Given the description of an element on the screen output the (x, y) to click on. 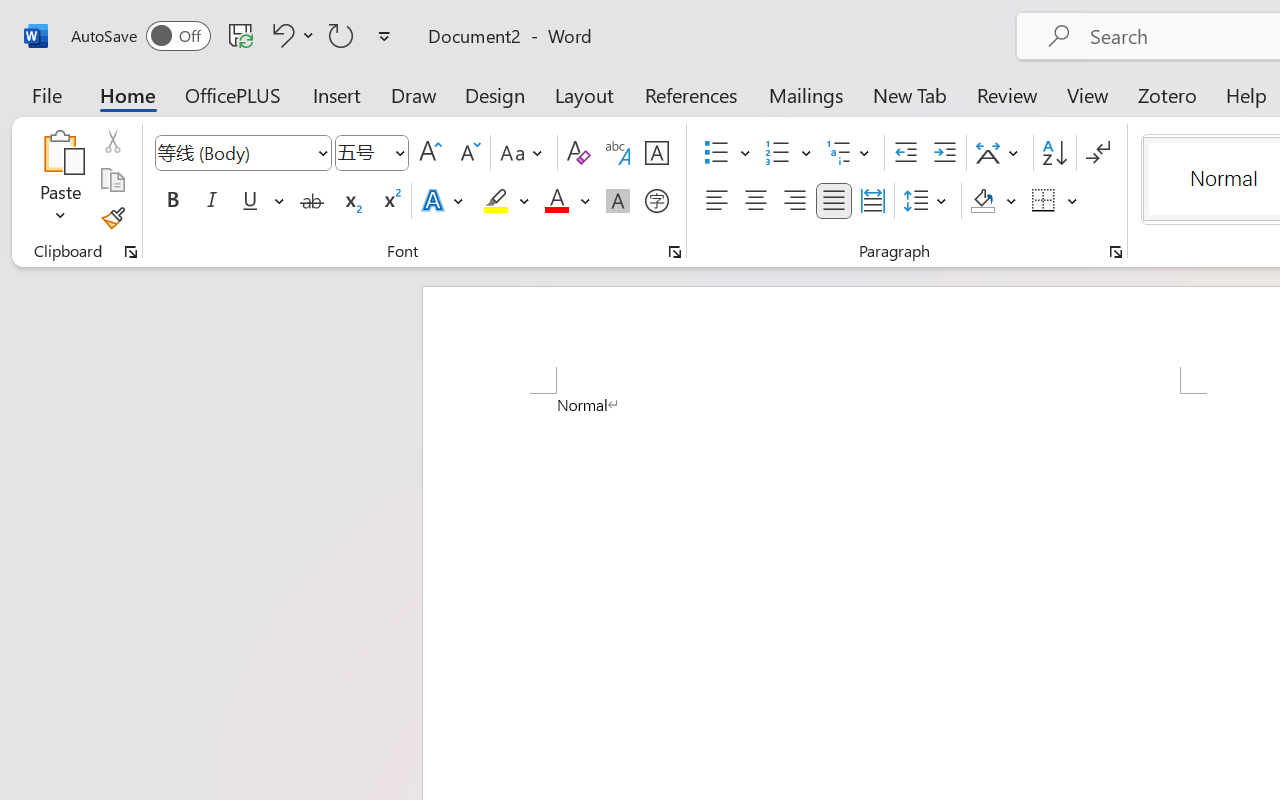
Show/Hide Editing Marks (1098, 153)
Bullets (727, 153)
